Given the description of an element on the screen output the (x, y) to click on. 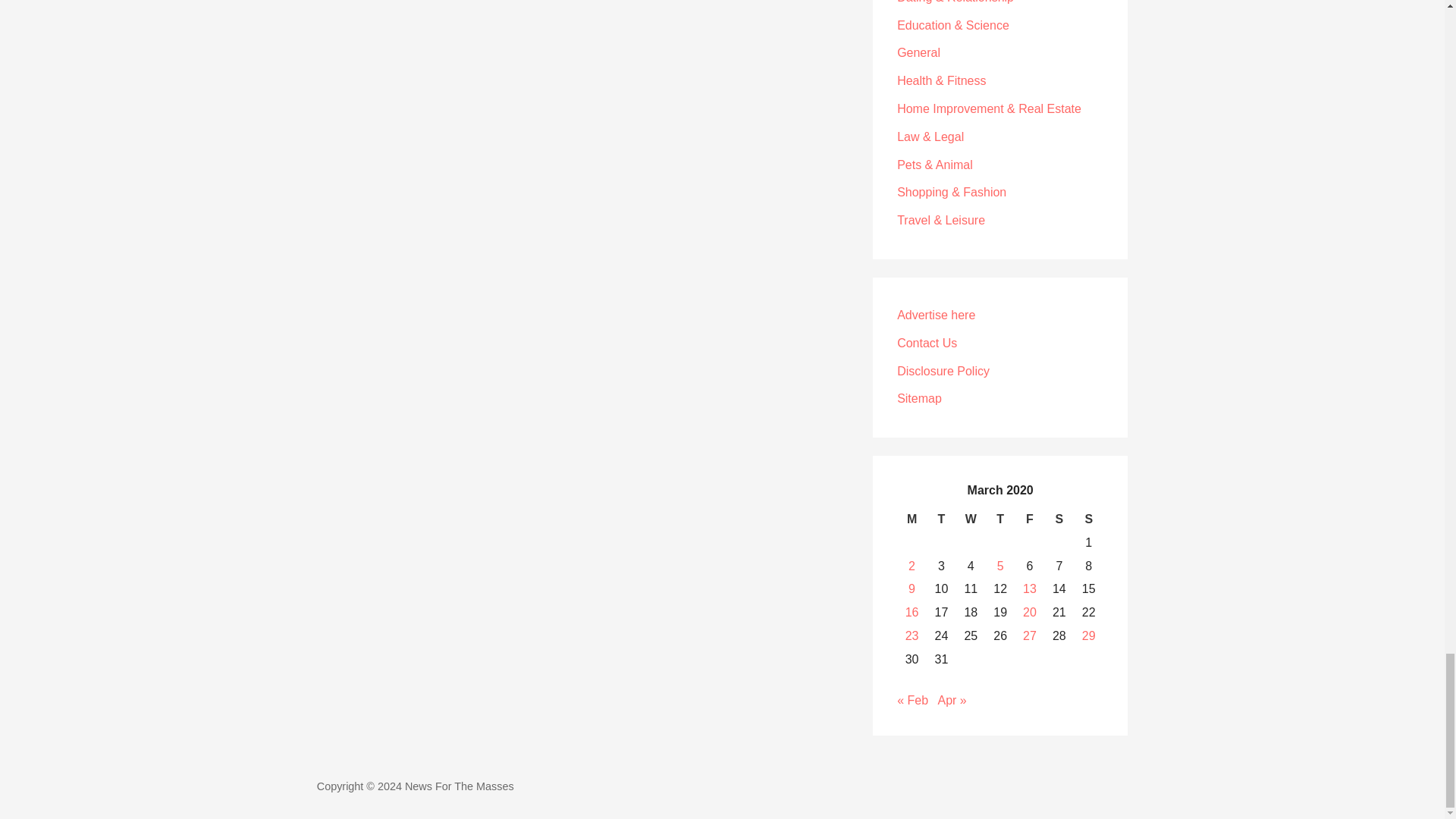
Friday (1029, 519)
Wednesday (970, 519)
Monday (911, 519)
Tuesday (941, 519)
Sunday (1088, 519)
Saturday (1058, 519)
Thursday (999, 519)
